Given the description of an element on the screen output the (x, y) to click on. 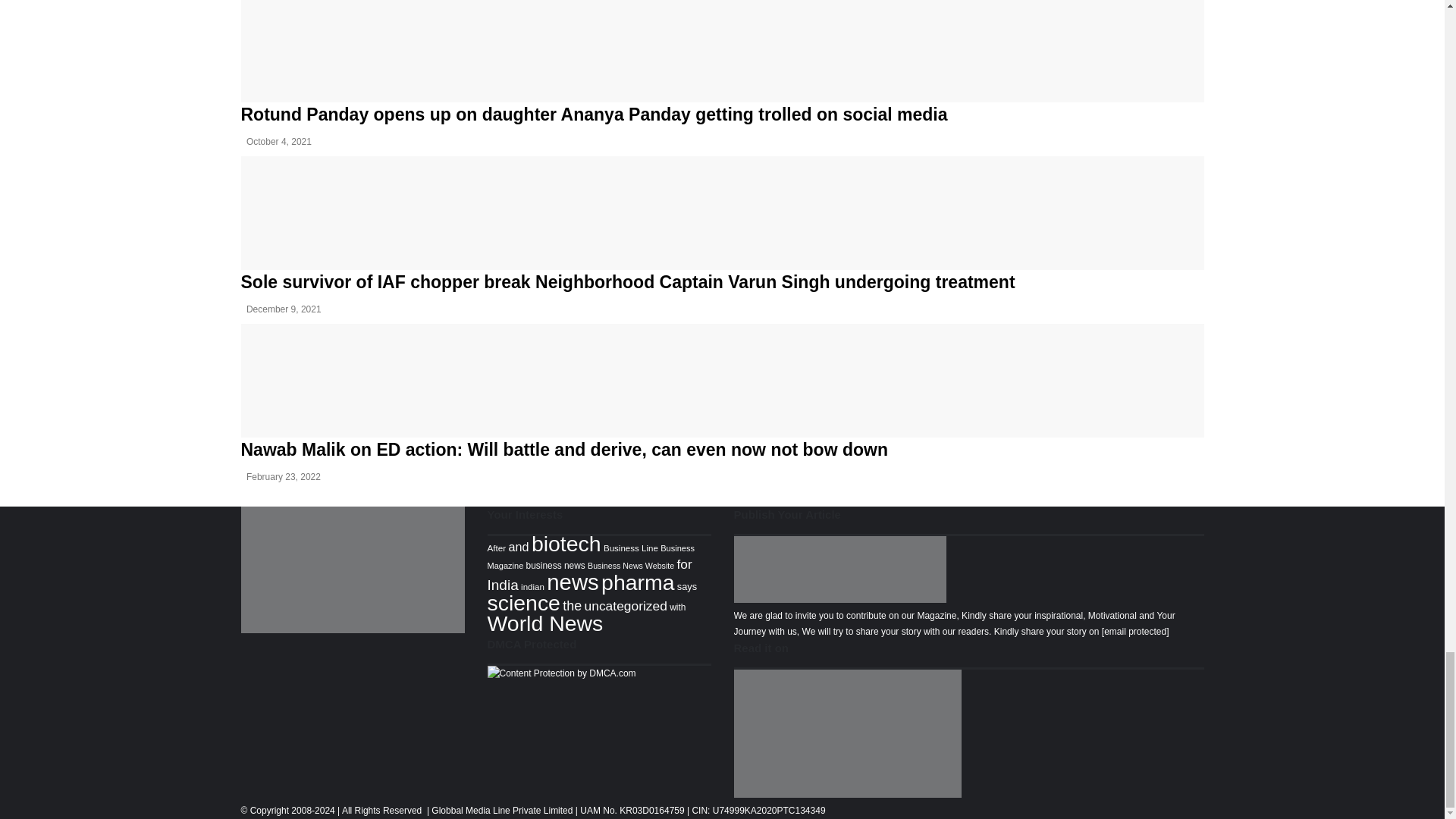
Content Protection by DMCA.com (560, 673)
